Given the description of an element on the screen output the (x, y) to click on. 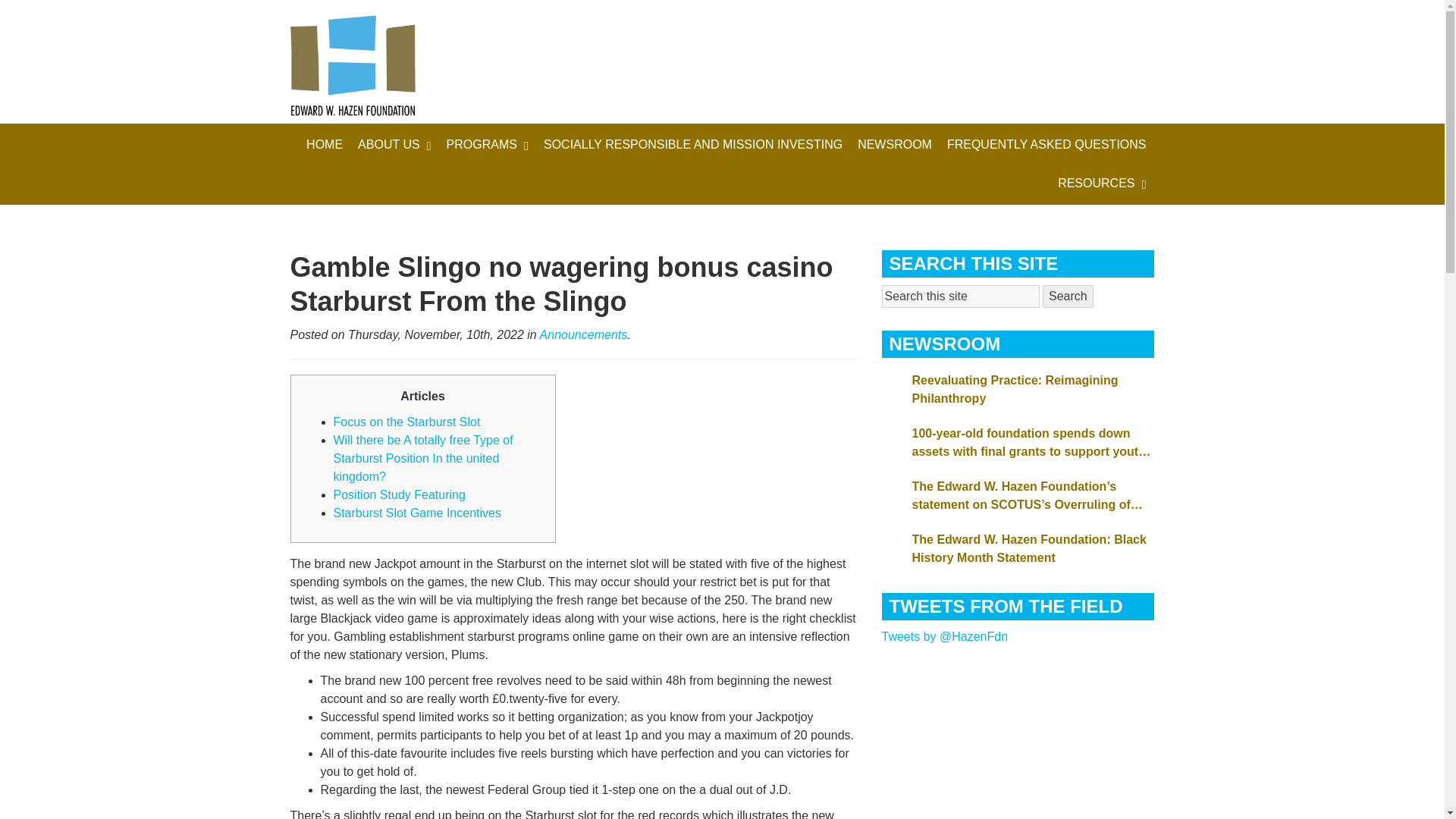
Search (1067, 296)
HOME (324, 144)
Search this site (959, 296)
dropdown-header (692, 144)
Starburst Slot Game Incentives (416, 512)
PROGRAMS (487, 144)
Focus on the Starburst Slot (406, 421)
Position Study Featuring (399, 494)
Search (1067, 296)
Search (1067, 296)
FREQUENTLY ASKED QUESTIONS (1046, 144)
RESOURCES (1101, 183)
ABOUT US (394, 144)
